Given the description of an element on the screen output the (x, y) to click on. 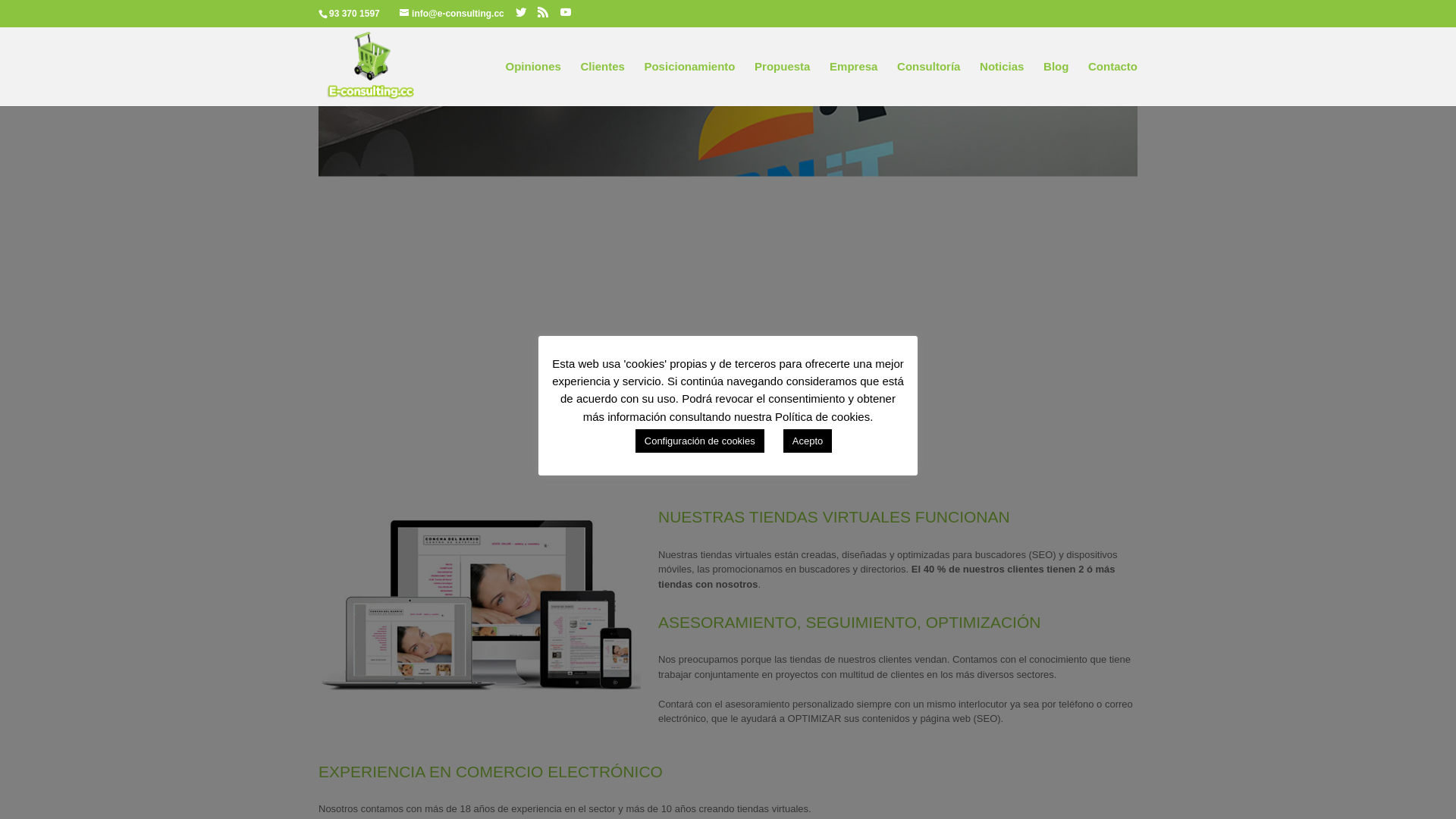
Posicionamiento Element type: text (688, 83)
Blog Element type: text (1055, 83)
Contacto Element type: text (1112, 83)
Acepto Element type: text (807, 440)
info@e-consulting.cc Element type: text (451, 13)
Propuesta Element type: text (781, 83)
Empresa Element type: text (853, 83)
Noticias Element type: text (1001, 83)
Opiniones Element type: text (532, 83)
Clientes Element type: text (602, 83)
